Given the description of an element on the screen output the (x, y) to click on. 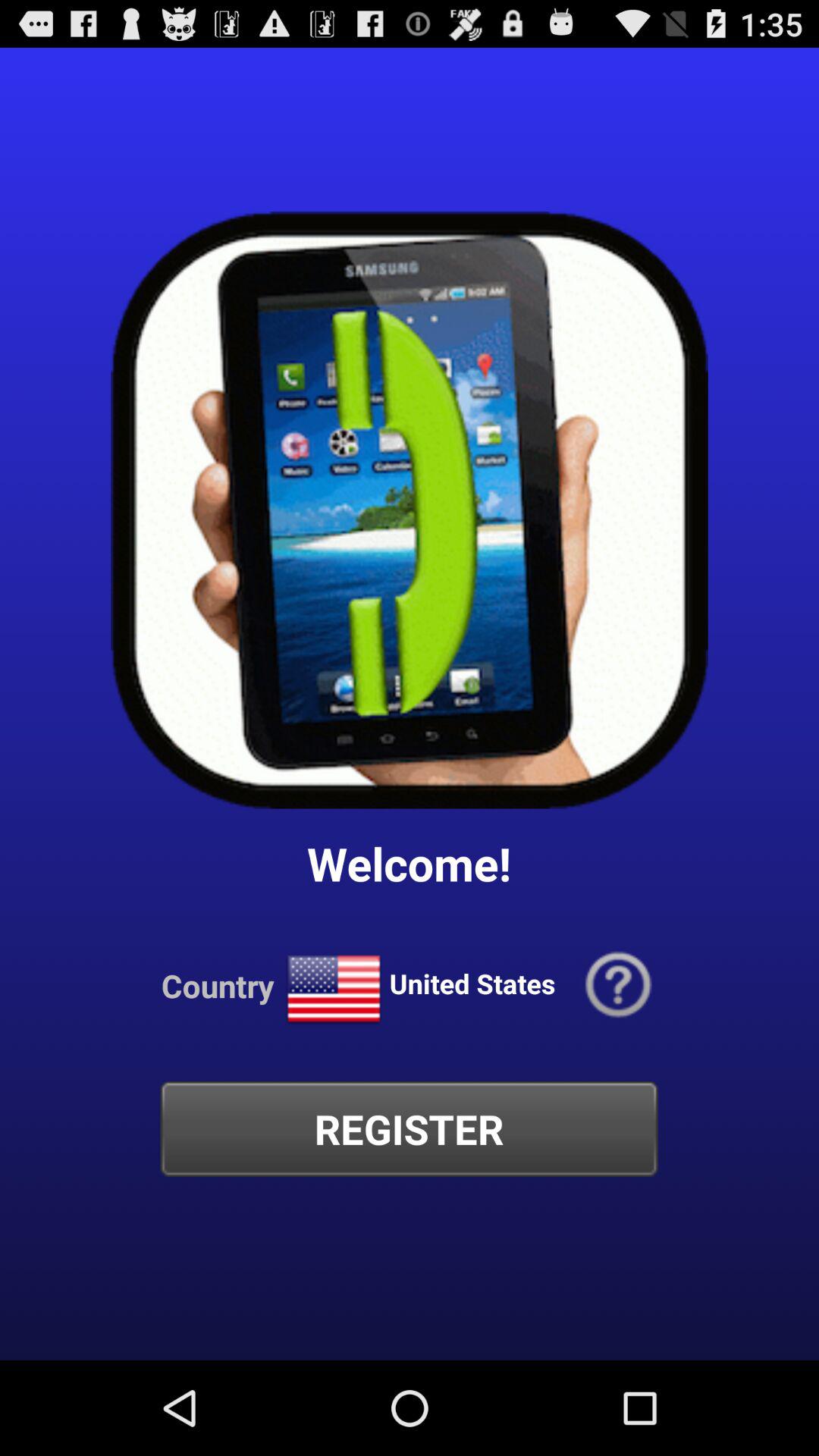
click the icon to the right of country item (333, 989)
